Given the description of an element on the screen output the (x, y) to click on. 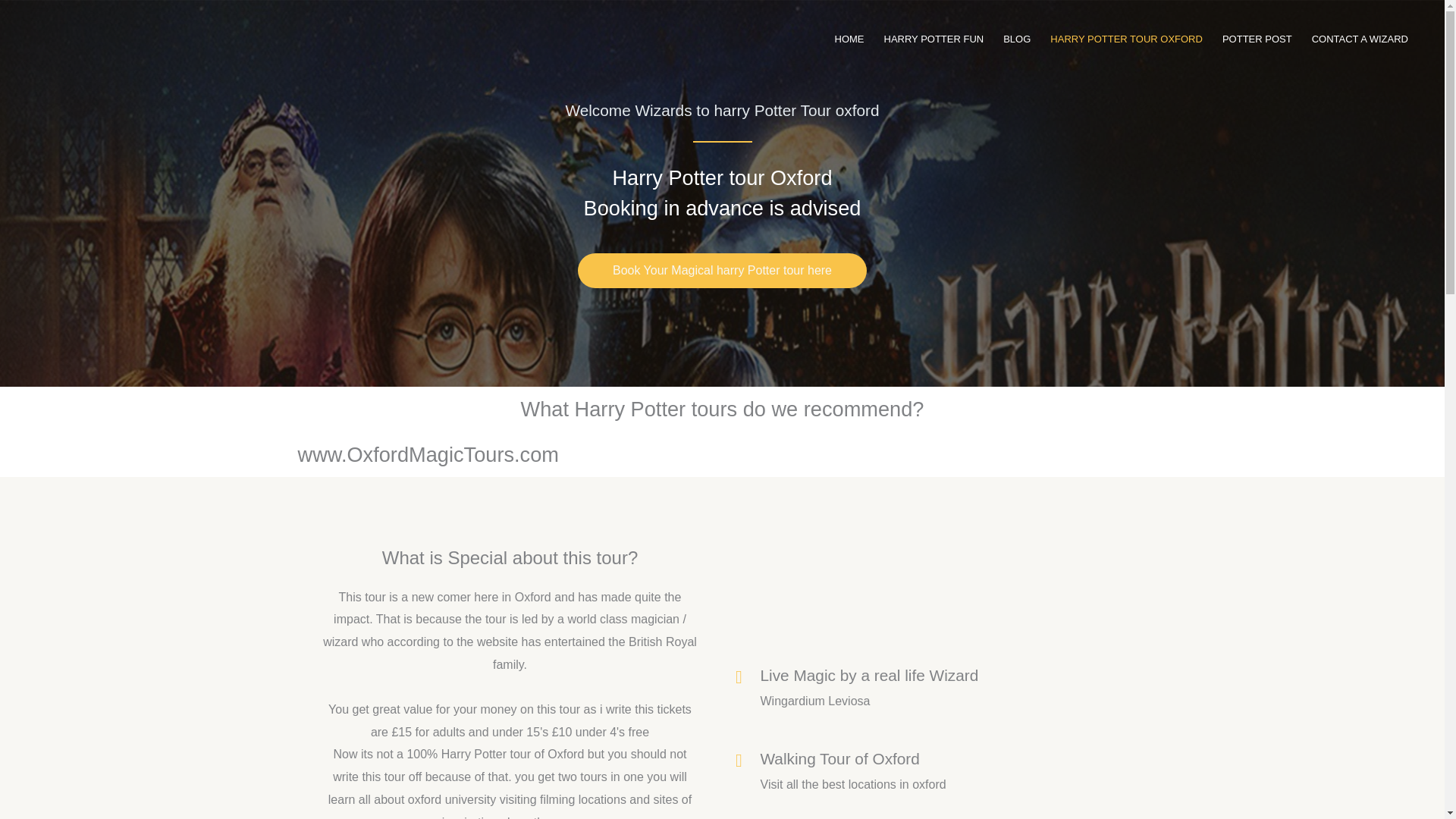
POTTER POST (1256, 39)
HARRY POTTER FUN (932, 39)
HOME (850, 39)
CONTACT A WIZARD (1359, 39)
www.OxfordMagicTours.com (427, 454)
Book Your Magical harry Potter tour here (722, 270)
HARRY POTTER TOUR OXFORD (1126, 39)
